Given the description of an element on the screen output the (x, y) to click on. 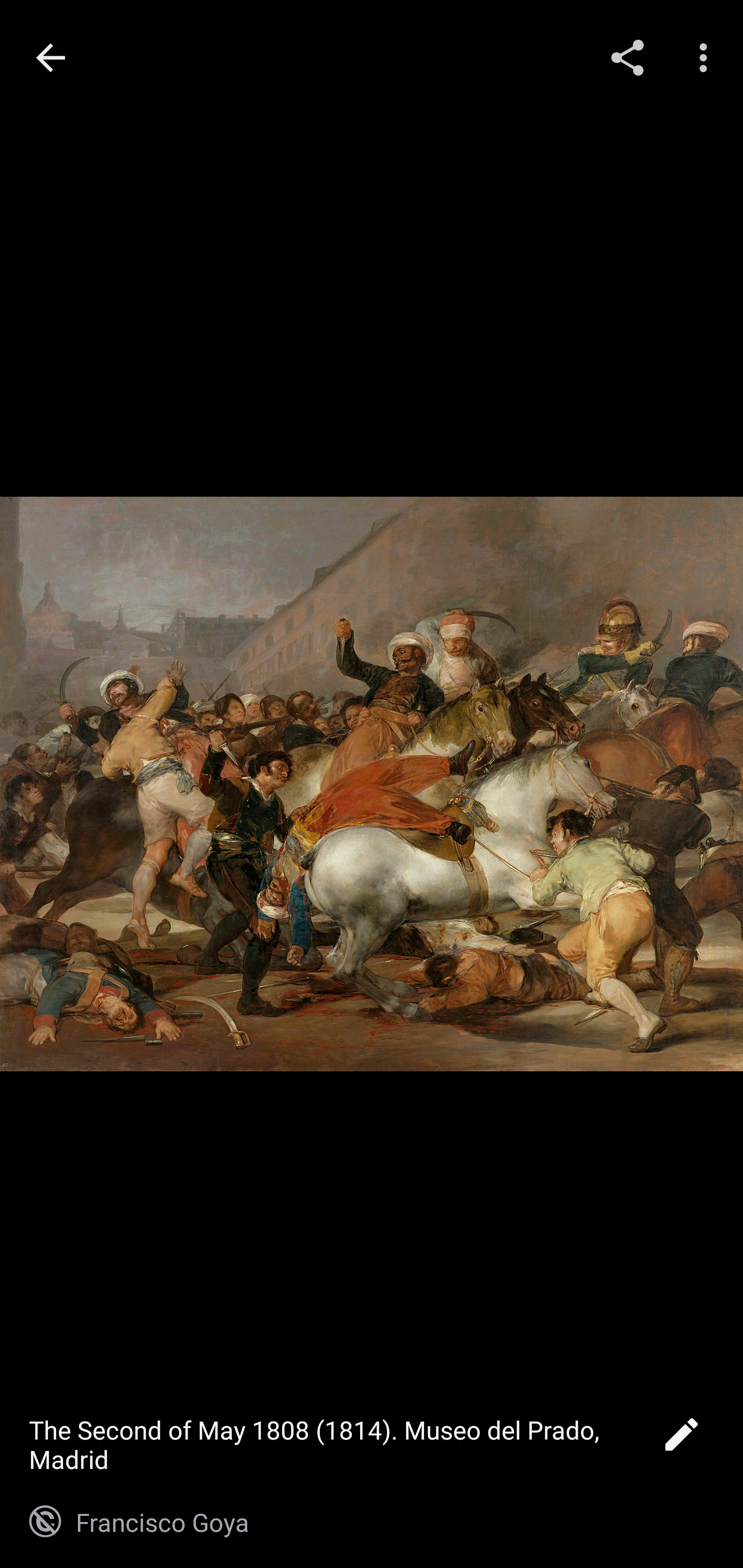
Navigate up (50, 57)
Share (626, 57)
More options (706, 57)
Edit image caption (681, 1439)
Public domain (44, 1521)
